Given the description of an element on the screen output the (x, y) to click on. 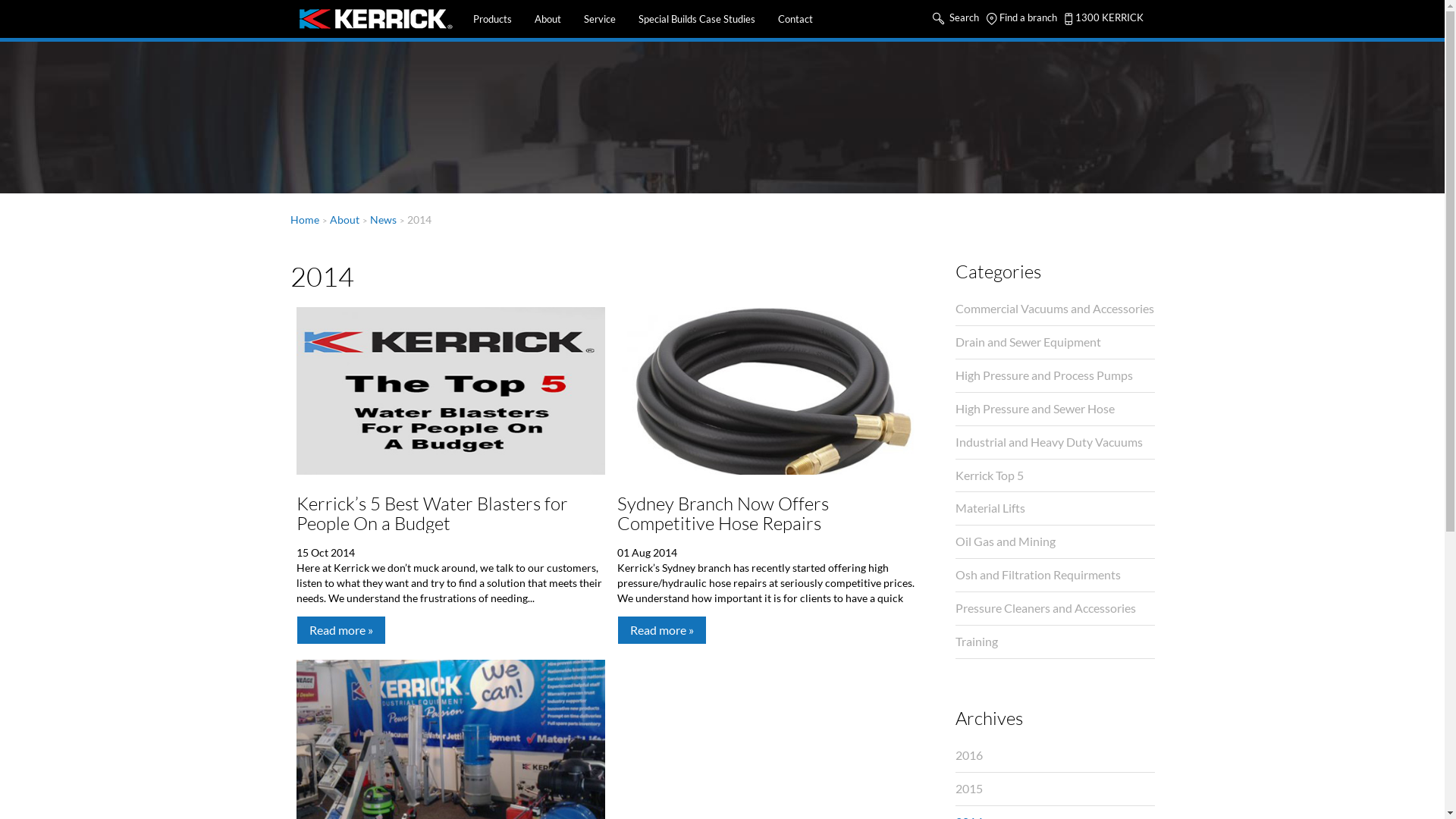
Pressure Cleaners and Accessories Element type: text (1054, 608)
Drain and Sewer Equipment Element type: text (1054, 342)
 1300 KERRICK Element type: text (1103, 17)
High Pressure and Process Pumps Element type: text (1054, 375)
Commercial Vacuums and Accessories Element type: text (1054, 309)
Home Element type: text (303, 219)
Industrial and Heavy Duty Vacuums Element type: text (1054, 442)
Special Builds Case Studies Element type: text (695, 18)
Contact Element type: text (794, 18)
Training Element type: text (1054, 641)
Material Lifts Element type: text (1054, 508)
Osh and Filtration Requirments Element type: text (1054, 575)
 Find a branch Element type: text (1020, 17)
2015 Element type: text (1054, 789)
 Search Element type: text (955, 17)
Kerrick Top 5 Element type: text (1054, 475)
About Element type: text (343, 219)
Service Element type: text (598, 18)
2016 Element type: text (1054, 755)
About Element type: text (547, 18)
News Element type: text (383, 219)
High Pressure and Sewer Hose Element type: text (1054, 409)
Oil Gas and Mining Element type: text (1054, 541)
Products Element type: text (491, 18)
